Given the description of an element on the screen output the (x, y) to click on. 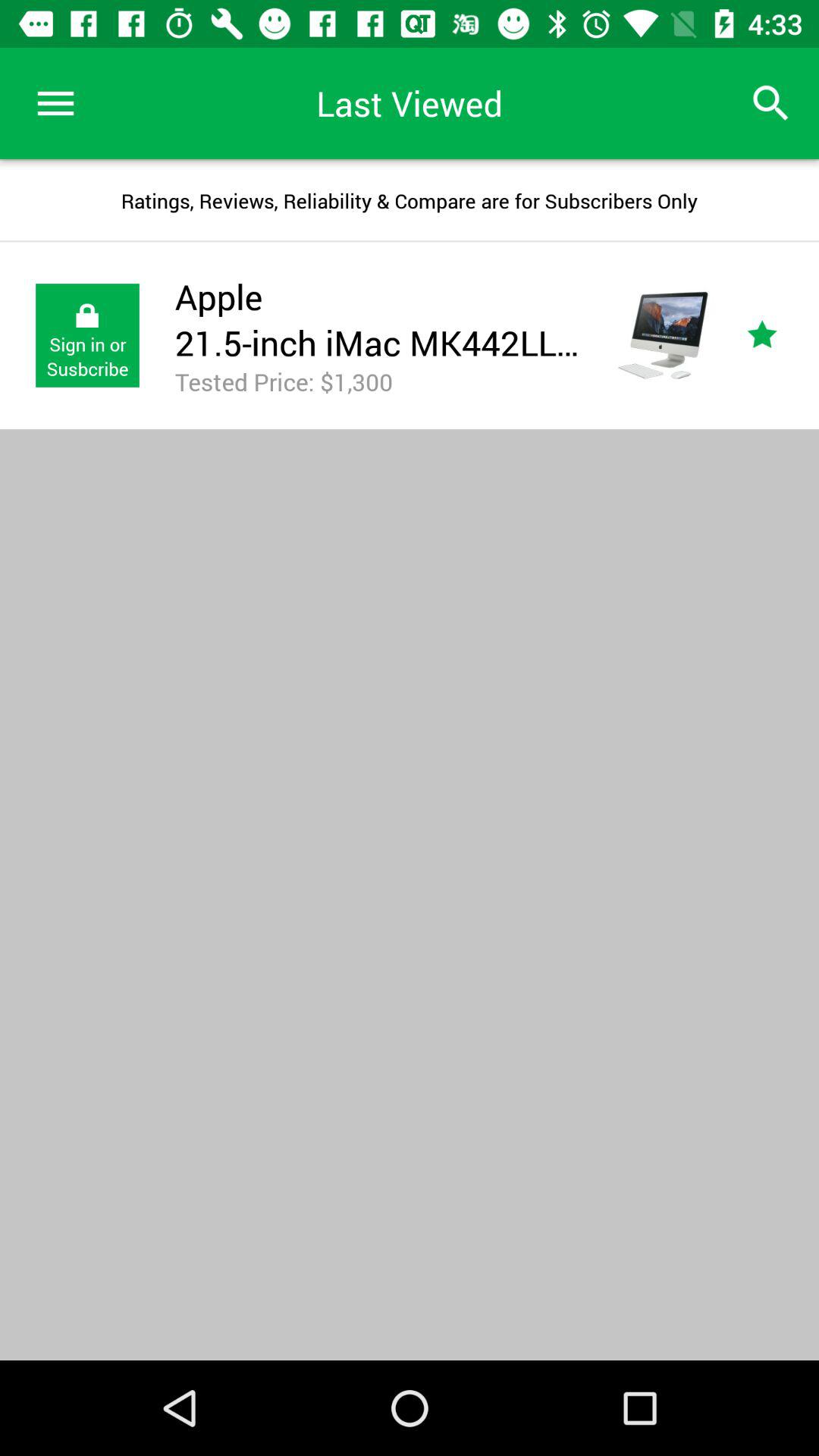
click to rating symbol (779, 335)
